Given the description of an element on the screen output the (x, y) to click on. 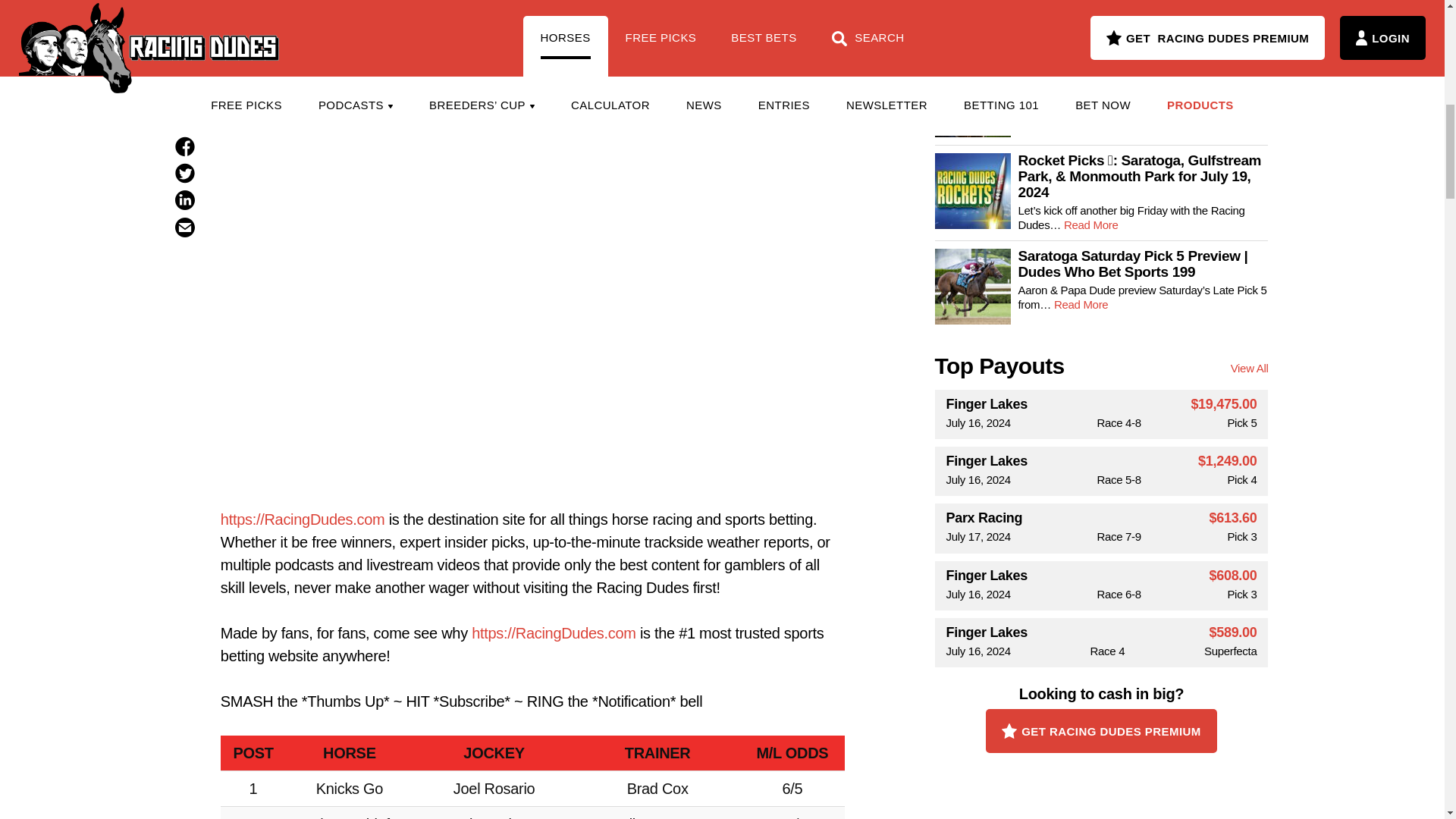
Posts by Curtis "Magic" Kalleward (532, 2)
